Given the description of an element on the screen output the (x, y) to click on. 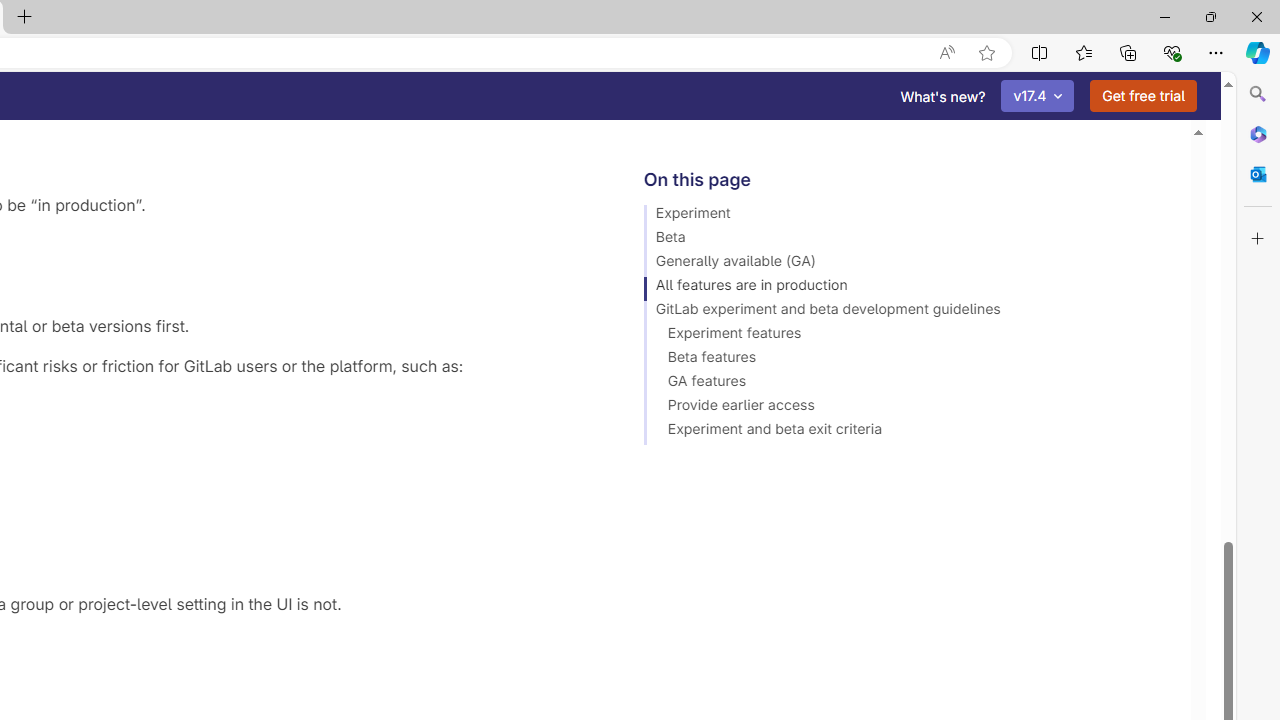
Experiment and beta exit criteria (908, 431)
Experiment and beta exit criteria (908, 431)
All features are in production (908, 287)
GitLab experiment and beta development guidelines (908, 312)
Beta (908, 240)
